Given the description of an element on the screen output the (x, y) to click on. 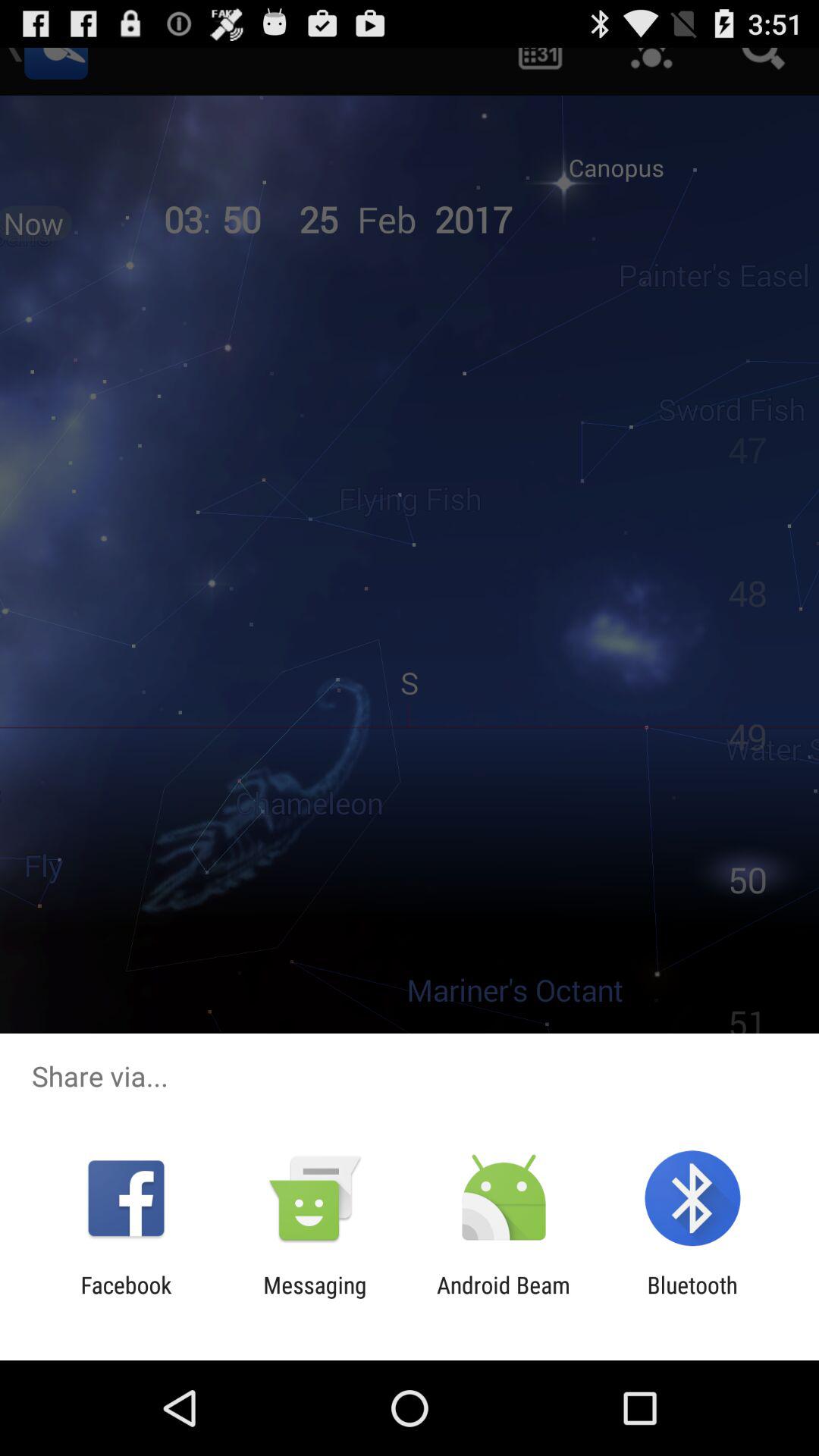
turn on the item to the left of the messaging (125, 1298)
